Given the description of an element on the screen output the (x, y) to click on. 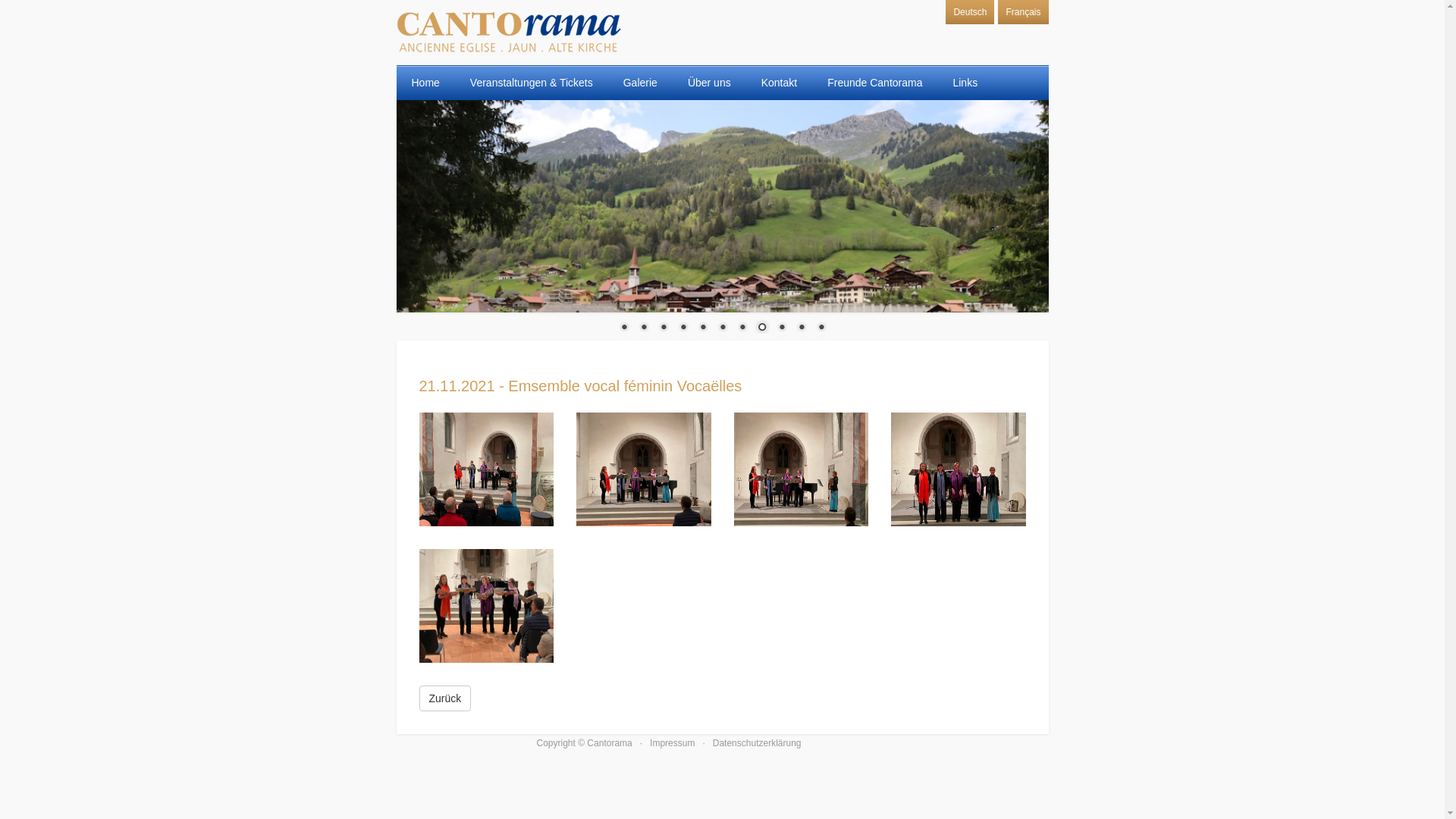
9 Element type: text (781, 328)
Deutsch Element type: text (969, 12)
7 Element type: text (742, 328)
Kontakt Element type: text (779, 82)
5 Element type: text (702, 328)
Freunde Cantorama Element type: text (874, 82)
11 Element type: text (820, 328)
Home Element type: text (424, 82)
4 Element type: text (682, 328)
10 Element type: text (801, 328)
1 Element type: text (623, 328)
Galerie Element type: text (640, 82)
Veranstaltungen & Tickets Element type: text (531, 82)
2 Element type: text (643, 328)
8 Element type: text (761, 328)
3 Element type: text (663, 328)
6 Element type: text (722, 328)
Impressum Element type: text (671, 742)
Links Element type: text (964, 82)
